Given the description of an element on the screen output the (x, y) to click on. 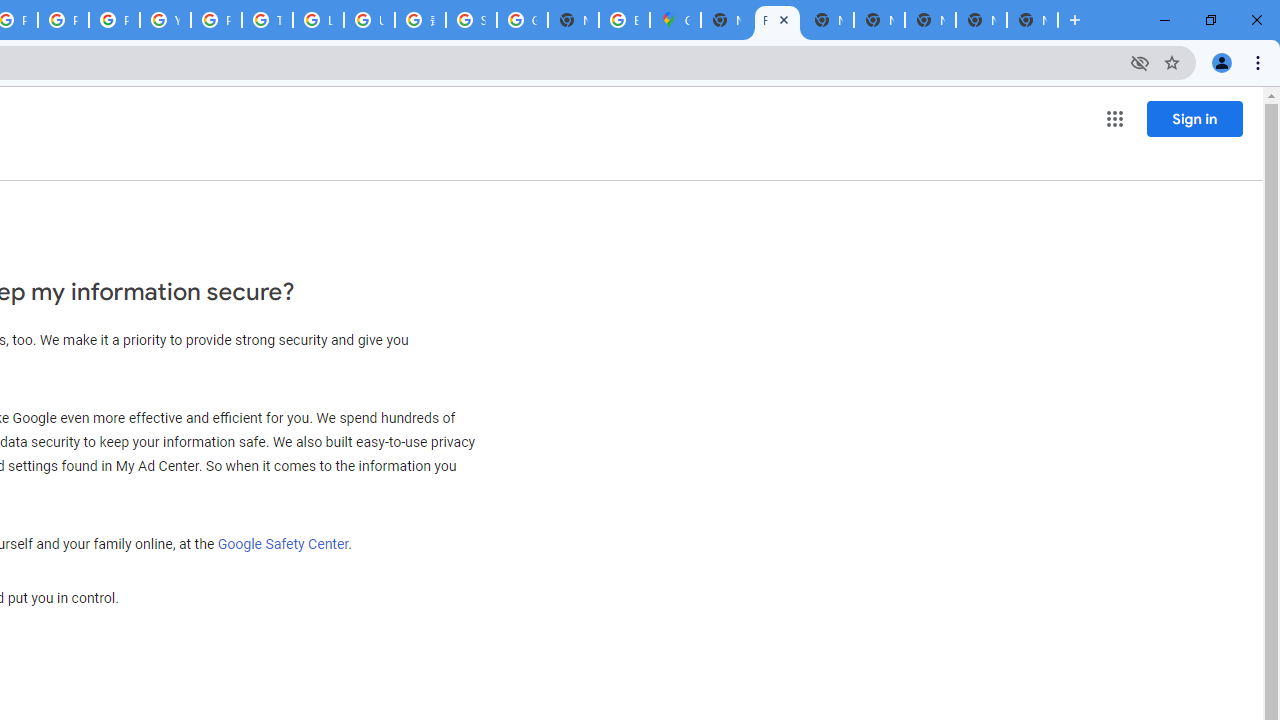
Explore new street-level details - Google Maps Help (624, 20)
Google Safety Center (283, 543)
